Given the description of an element on the screen output the (x, y) to click on. 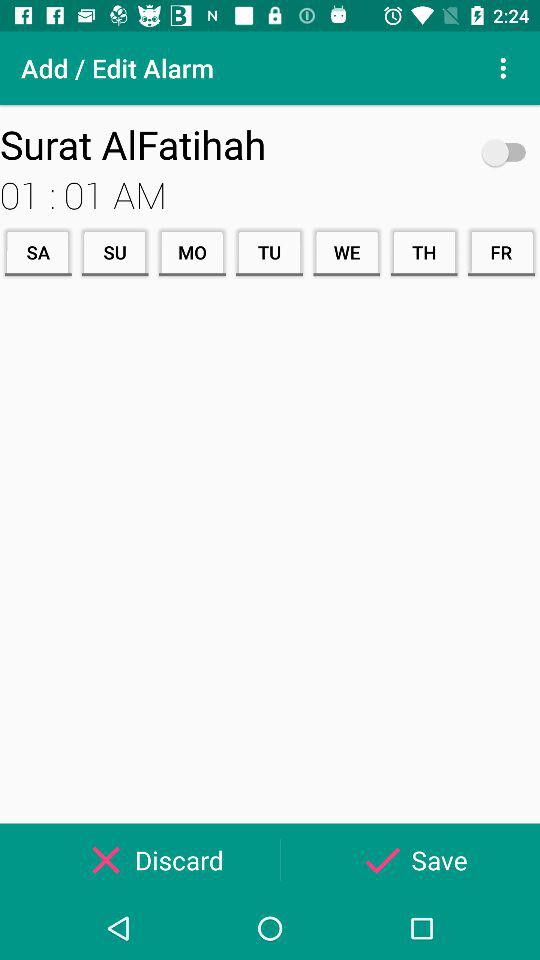
choose the th item (423, 251)
